Given the description of an element on the screen output the (x, y) to click on. 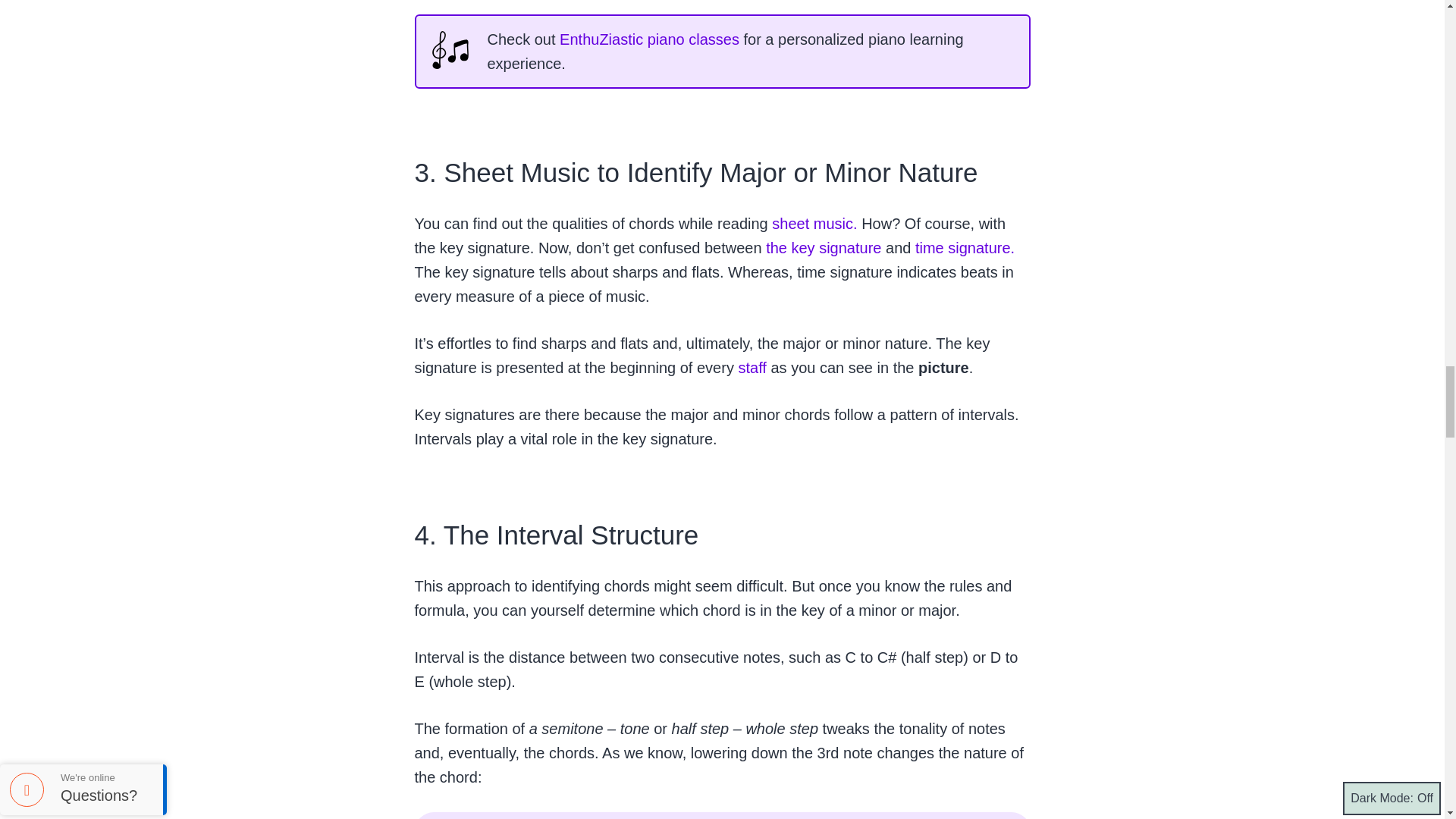
EnthuZiastic piano classes (647, 39)
staff (750, 367)
time signature. (962, 247)
sheet music. (812, 223)
the key signature (821, 247)
